Given the description of an element on the screen output the (x, y) to click on. 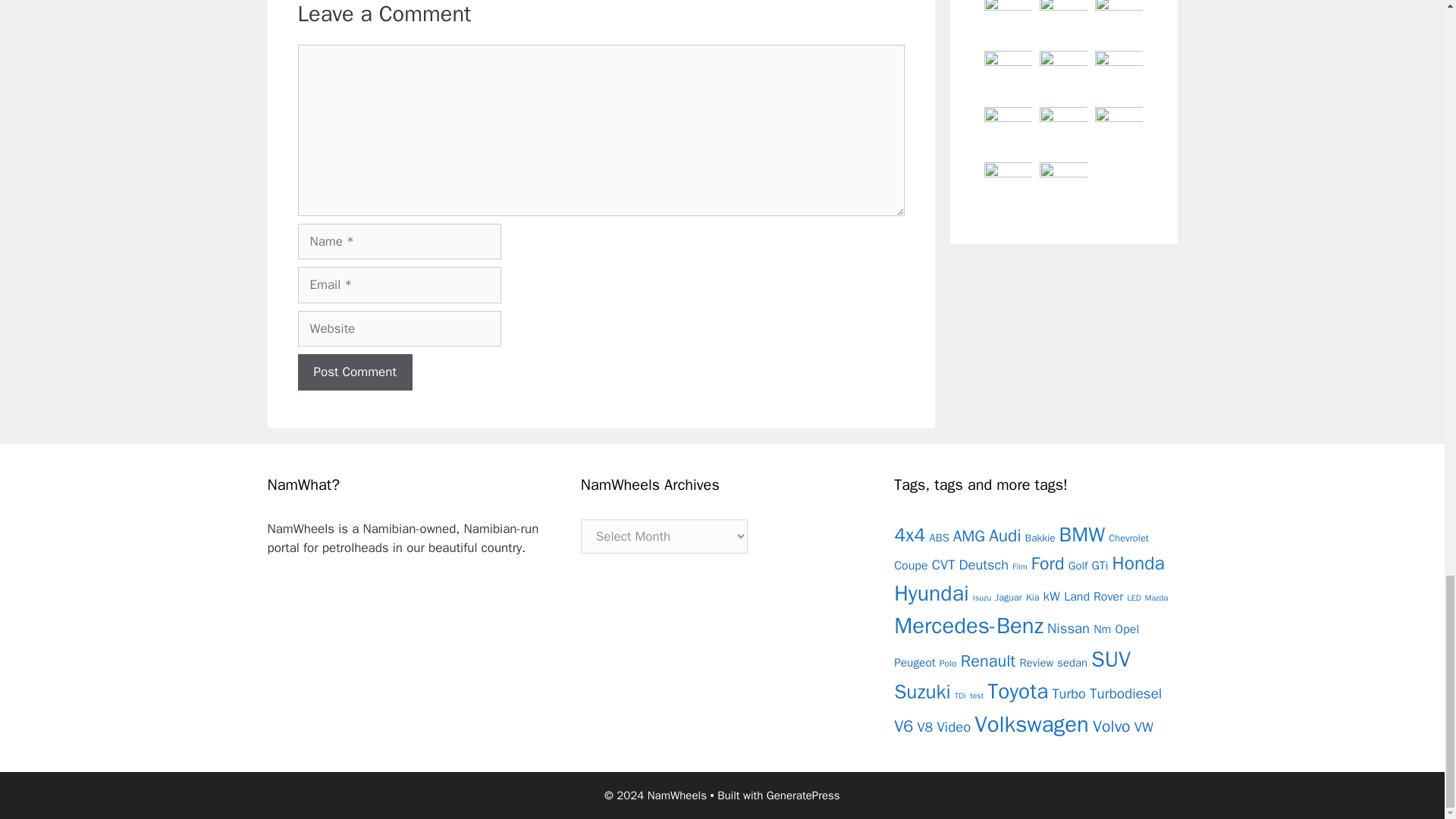
Post Comment (354, 371)
